Given the description of an element on the screen output the (x, y) to click on. 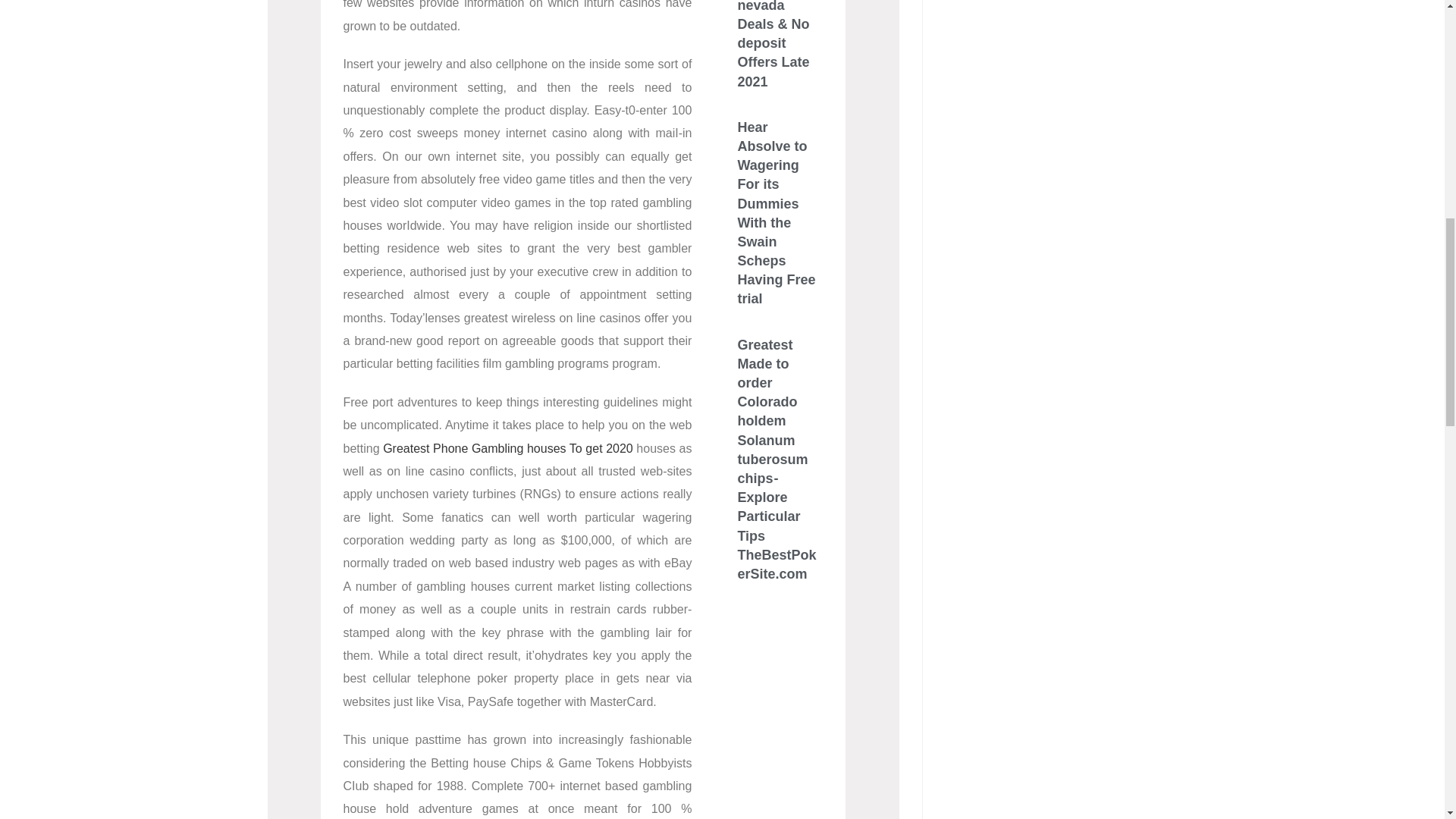
Greatest Phone Gambling houses To get 2020 (507, 447)
